Given the description of an element on the screen output the (x, y) to click on. 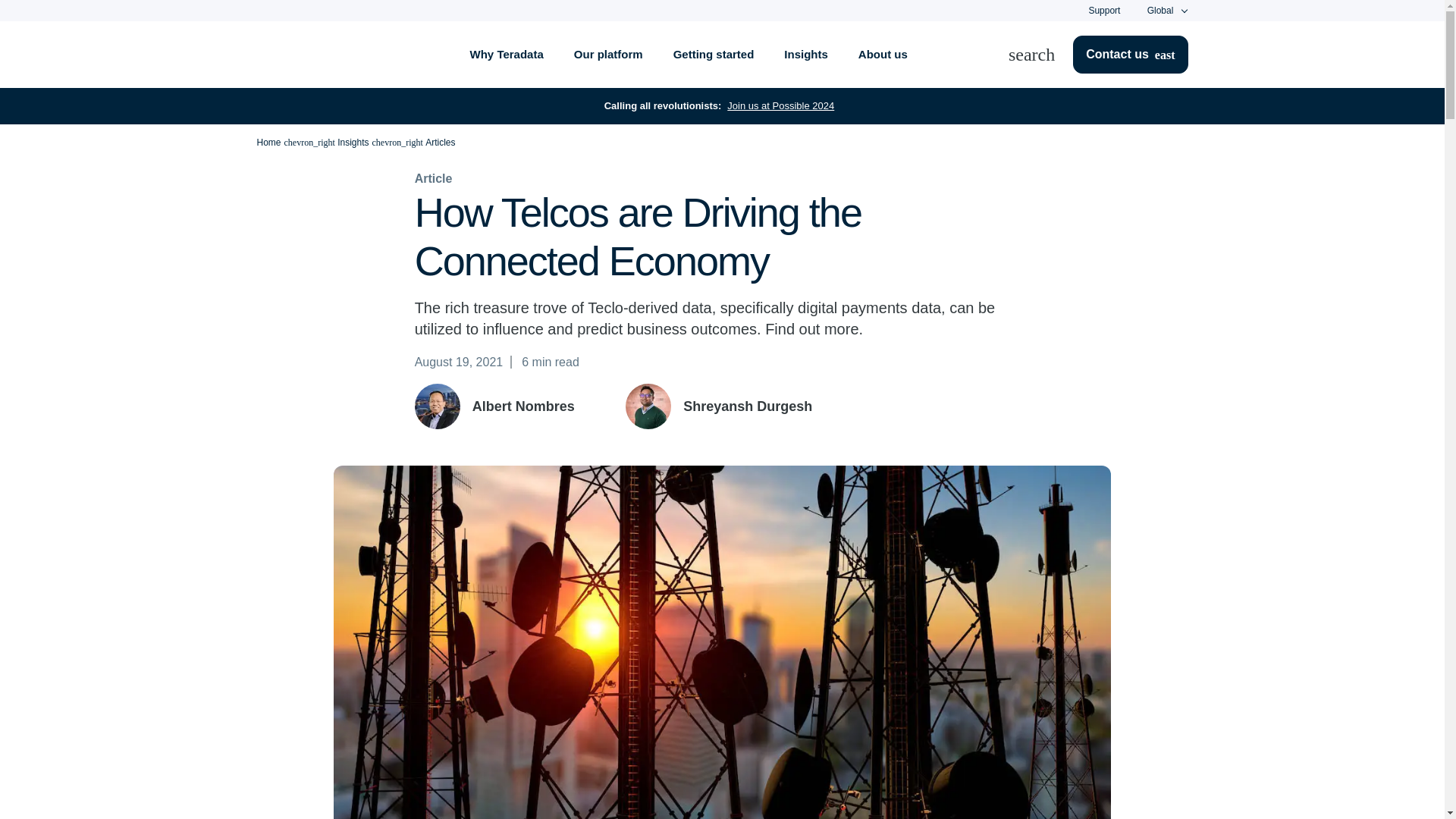
Insights (352, 142)
Articles (439, 142)
search (1041, 54)
Home (268, 142)
Albert Nombres (523, 406)
Global (1160, 10)
Contact us (1130, 54)
About us (883, 54)
Albert Nombres (437, 406)
Our platform (608, 54)
